Given the description of an element on the screen output the (x, y) to click on. 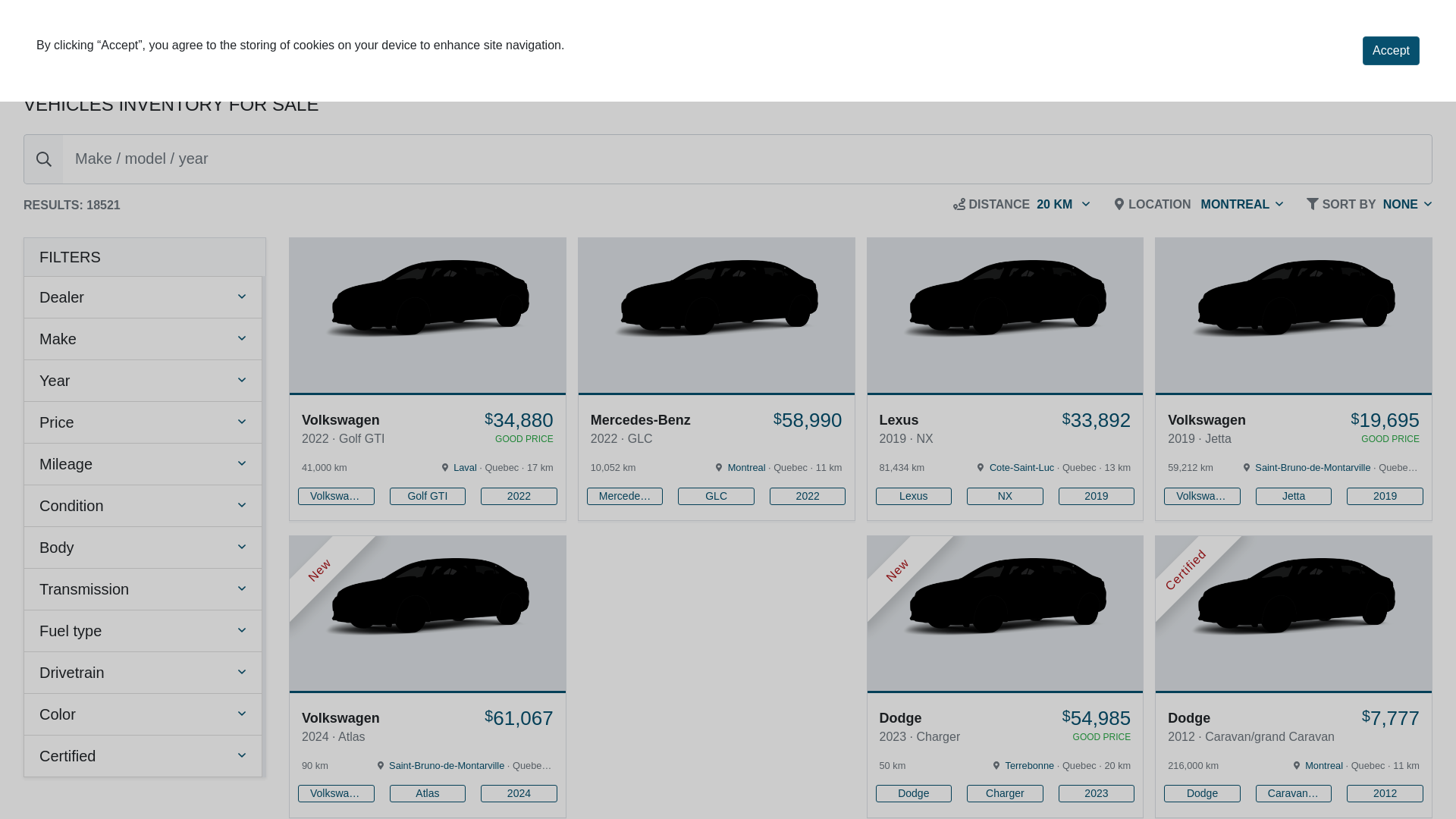
Caravan/grand Caravan Element type: text (1293, 793)
NX Element type: text (1004, 496)
Lexus Element type: text (913, 496)
Atlas Element type: text (427, 793)
AutoExpert Element type: hover (100, 42)
2019 Element type: text (1384, 496)
Dodge Element type: text (1202, 793)
Mercedes-Benz Element type: text (624, 496)
Dodge Element type: text (913, 793)
Montreal Element type: text (746, 467)
Cote-Saint-Luc Element type: text (1021, 467)
2023 Element type: text (1096, 793)
Saint-Bruno-de-Montarville Element type: text (446, 765)
Laval Element type: text (464, 467)
2019 Element type: text (1096, 496)
Volkswagen Element type: text (336, 496)
2012 Element type: text (1384, 793)
Saint-Bruno-de-Montarville Element type: text (1312, 467)
GLC Element type: text (715, 496)
Volkswagen Element type: text (336, 793)
Golf GTI Element type: text (427, 496)
Jetta Element type: text (1293, 496)
Terrebonne Element type: text (1029, 765)
2022 Element type: text (807, 496)
Charger Element type: text (1004, 793)
2022 Element type: text (518, 496)
Volkswagen Element type: text (1202, 496)
Accept Element type: text (1390, 50)
Montreal Element type: text (1324, 765)
2024 Element type: text (518, 793)
